Given the description of an element on the screen output the (x, y) to click on. 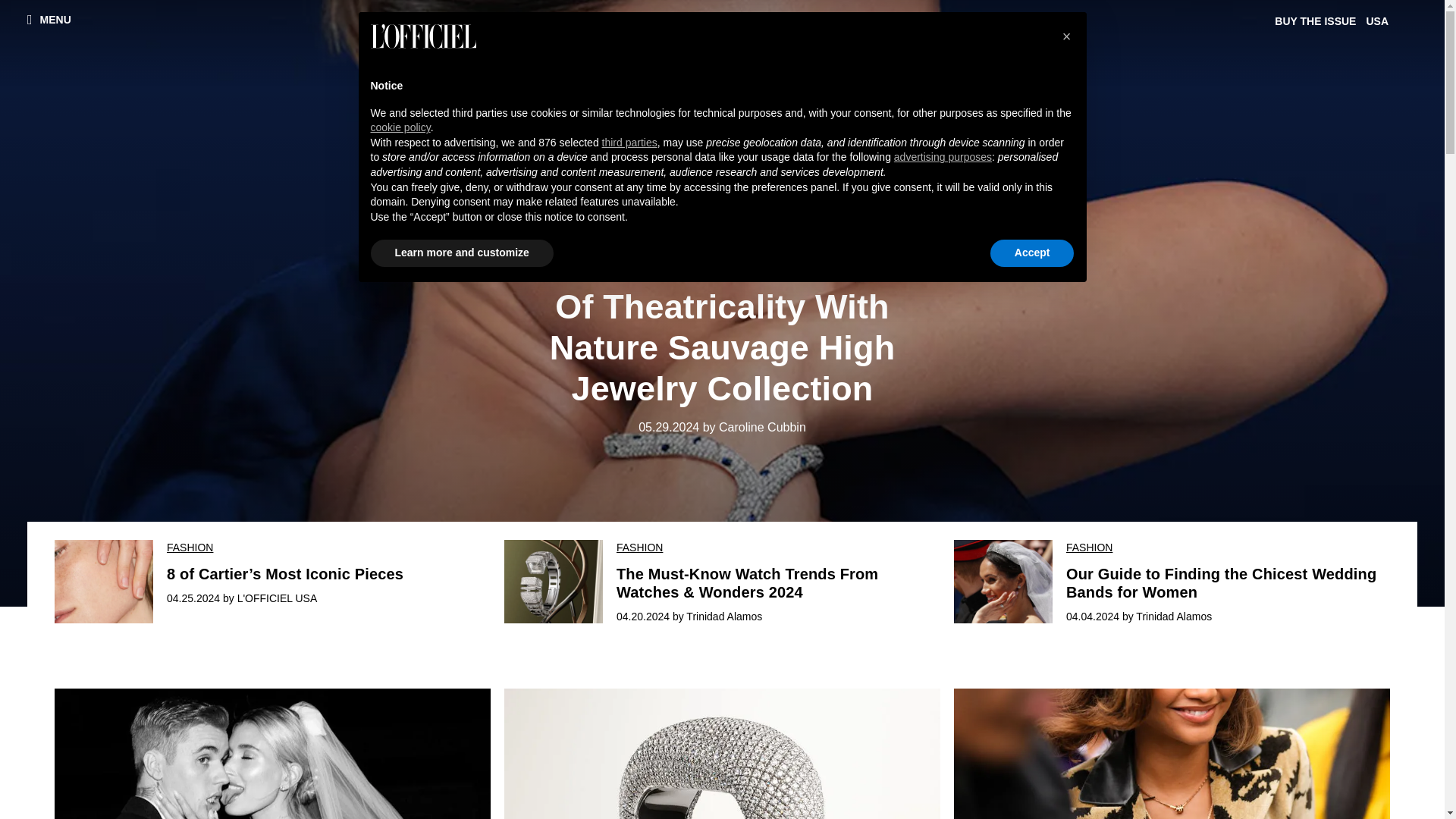
MENU (49, 19)
L'Officiel usa (721, 42)
L'Officiel usa (722, 42)
USA (1379, 21)
BUY THE ISSUE (1318, 21)
